Given the description of an element on the screen output the (x, y) to click on. 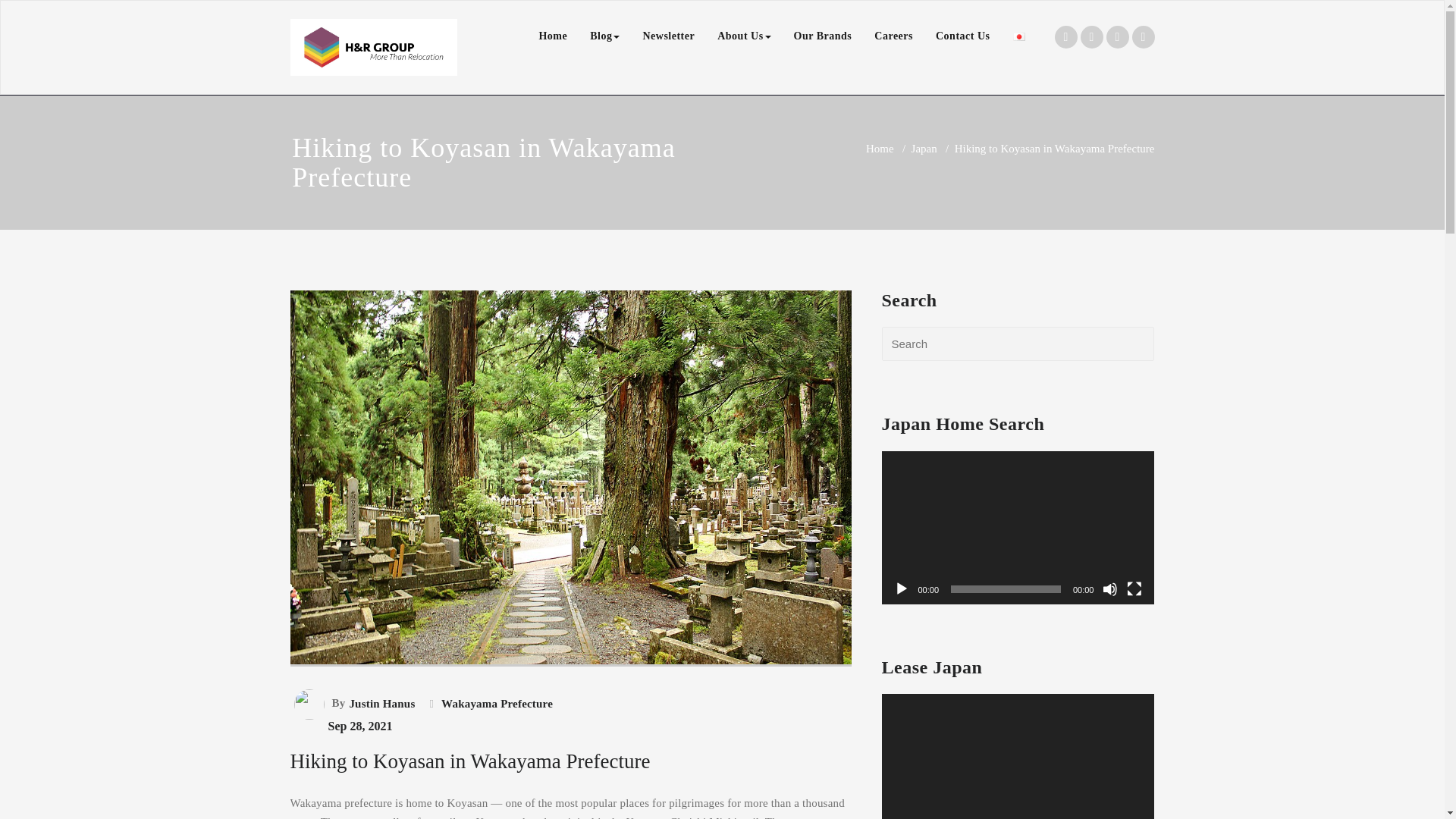
Blog (604, 36)
Wakayama Prefecture (495, 703)
Play (900, 589)
Careers (893, 36)
Japan (924, 148)
Hiking to Koyasan in Wakayama Prefecture (569, 685)
Our Brands (823, 36)
Home (552, 36)
Fullscreen (1133, 589)
About Us (743, 36)
Justin Hanus (379, 703)
Contact Us (962, 36)
Hiking to Koyasan in Wakayama Prefecture (469, 761)
Newsletter (668, 36)
Mute (1110, 589)
